Given the description of an element on the screen output the (x, y) to click on. 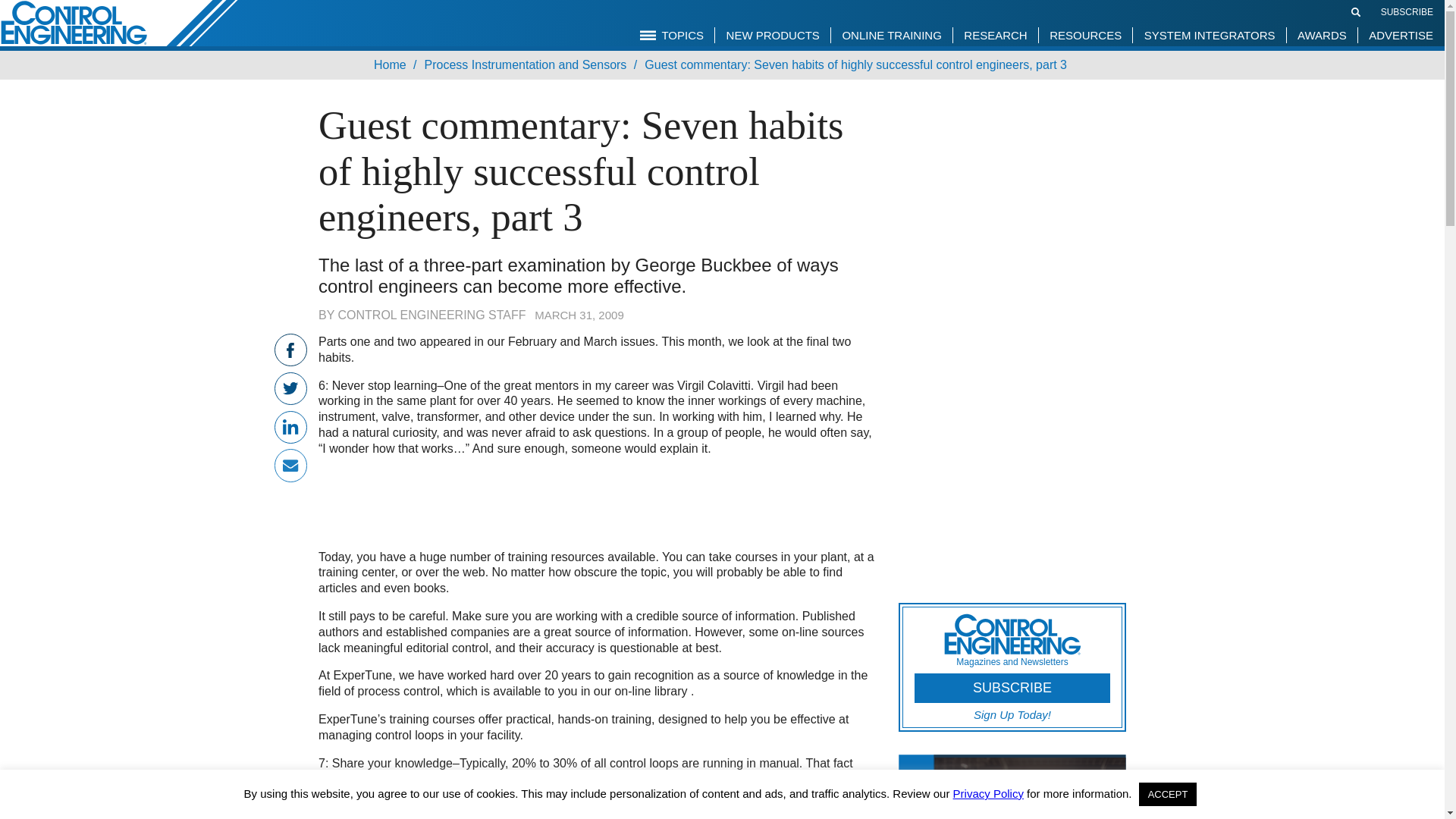
SUBSCRIBE (1406, 11)
RESEARCH (995, 34)
ONLINE TRAINING (890, 34)
Search (1356, 11)
NEW PRODUCTS (772, 34)
RESOURCES (1085, 34)
SYSTEM INTEGRATORS (1209, 34)
TOPICS (671, 34)
